Given the description of an element on the screen output the (x, y) to click on. 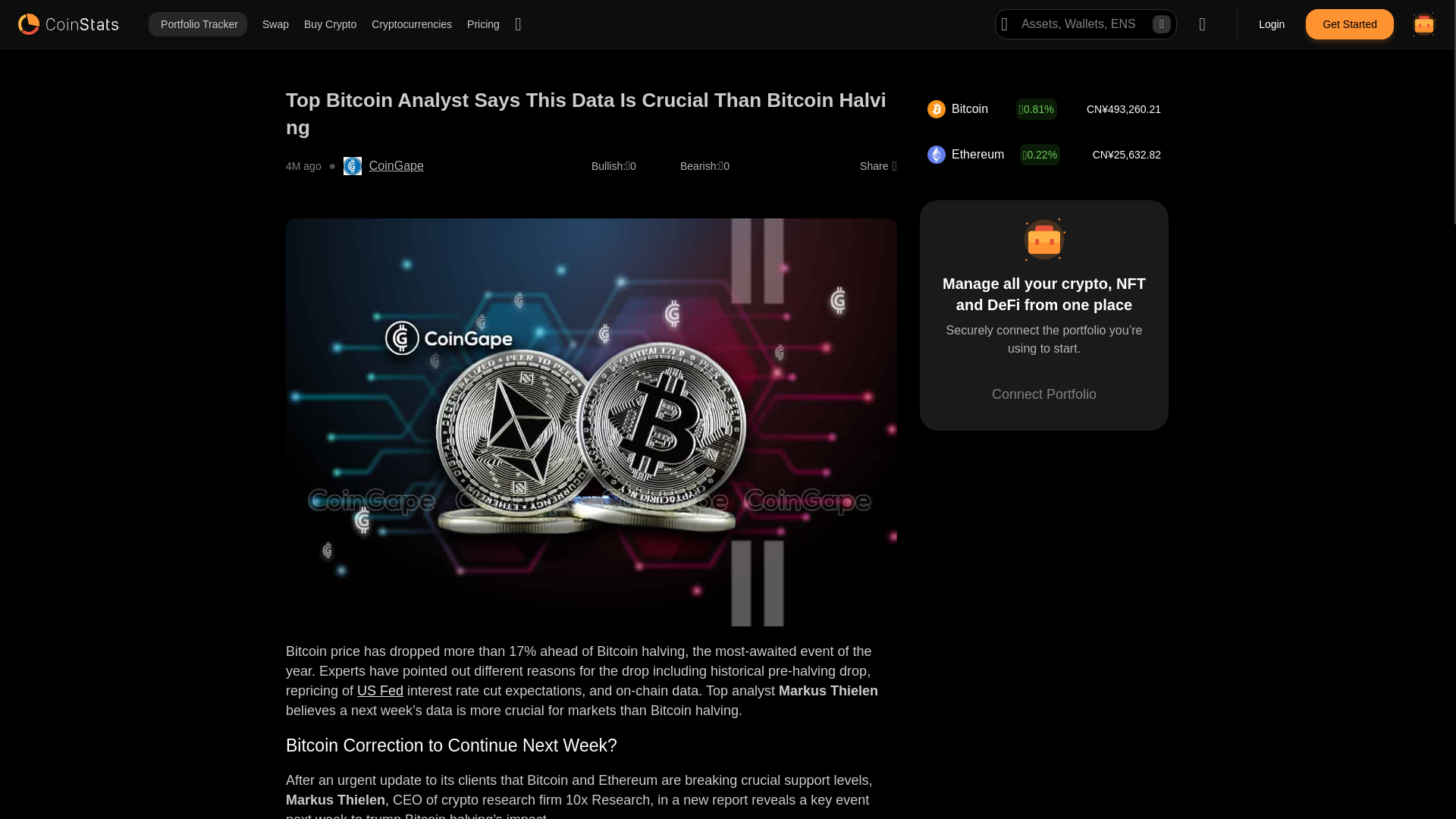
Portfolio Tracker (197, 24)
Pricing (483, 23)
CoinGape (396, 166)
Swap (275, 23)
Swap (275, 23)
bullish (608, 165)
US Fed (379, 690)
Cryptocurrencies (411, 23)
Get Started (1349, 24)
Portfolio Tracker (197, 24)
Login (1271, 24)
Cryptocurrencies (411, 23)
Pricing (483, 23)
bearish (699, 165)
